Given the description of an element on the screen output the (x, y) to click on. 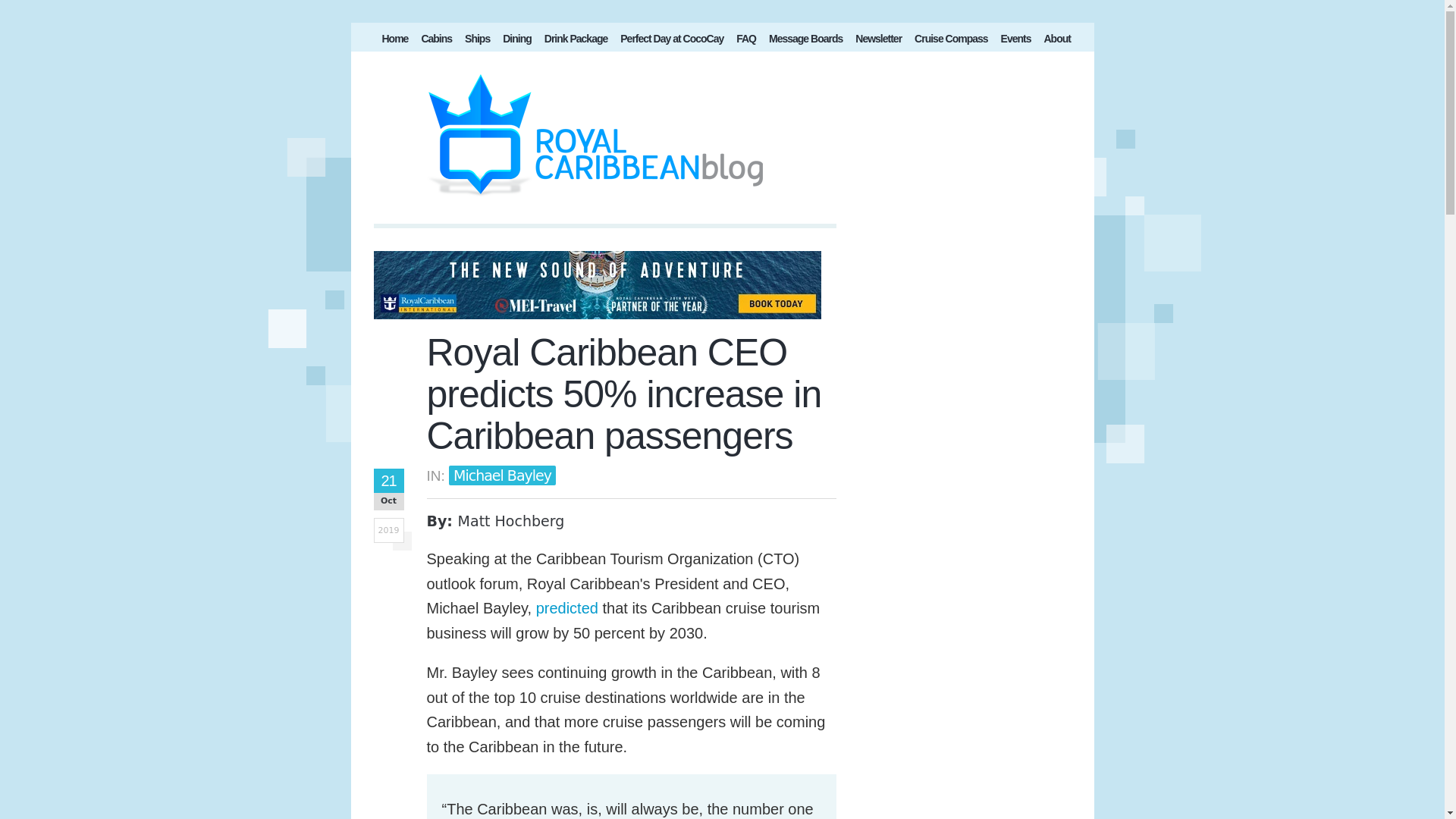
Royal Caribbean drink package (576, 40)
FAQ (746, 40)
Cruise Compass (950, 40)
Events (1015, 40)
Cruise cabins and suites (436, 40)
Royal Caribbean ships (477, 40)
Ships (477, 40)
Michael Bayley (502, 475)
About (1056, 40)
